Given the description of an element on the screen output the (x, y) to click on. 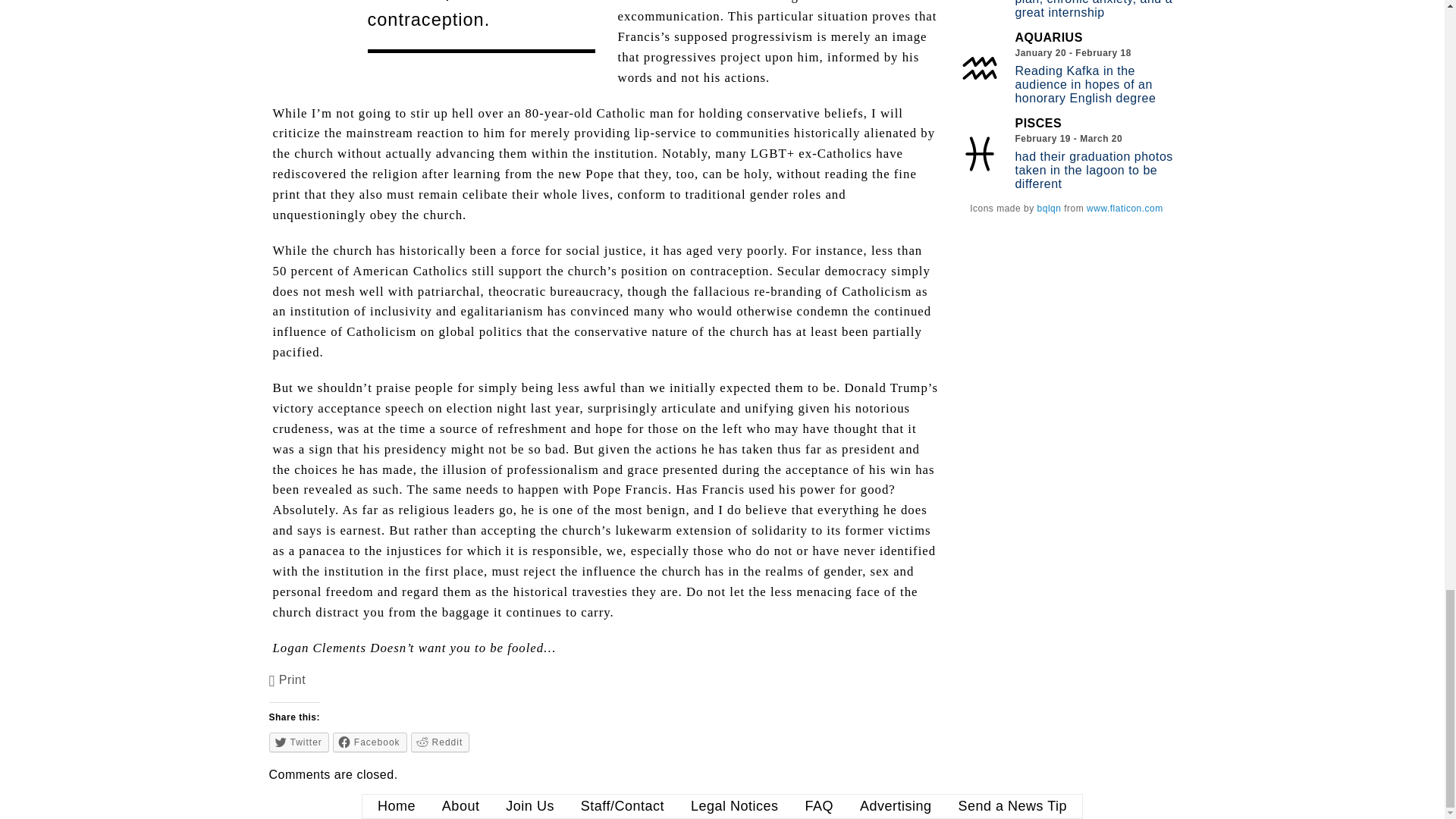
Click to share on Twitter (299, 742)
Click to share on Reddit (440, 742)
Click to share on Facebook (370, 742)
